Given the description of an element on the screen output the (x, y) to click on. 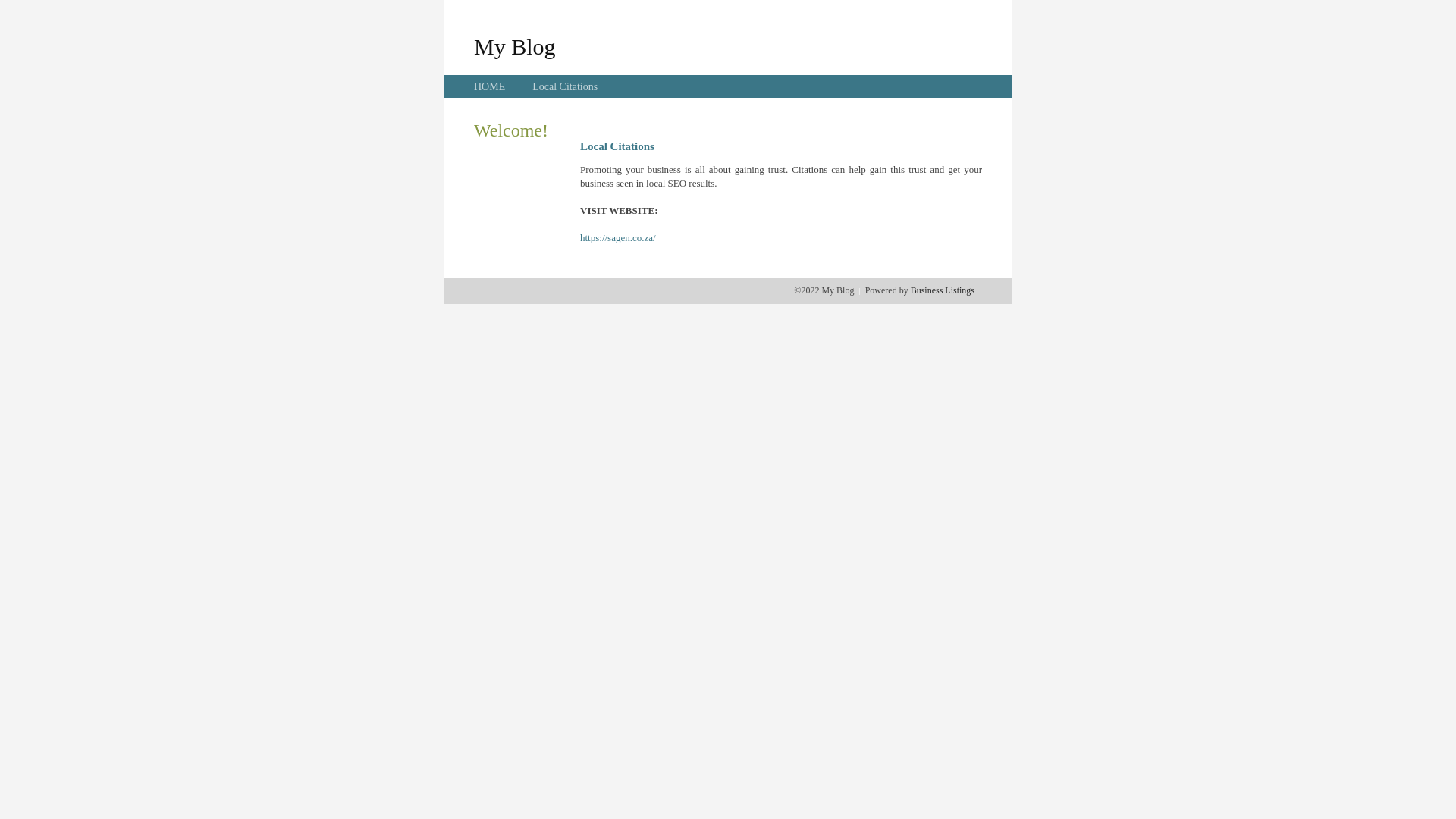
HOME Element type: text (489, 86)
https://sagen.co.za/ Element type: text (617, 237)
Business Listings Element type: text (942, 290)
My Blog Element type: text (514, 46)
Local Citations Element type: text (564, 86)
